Given the description of an element on the screen output the (x, y) to click on. 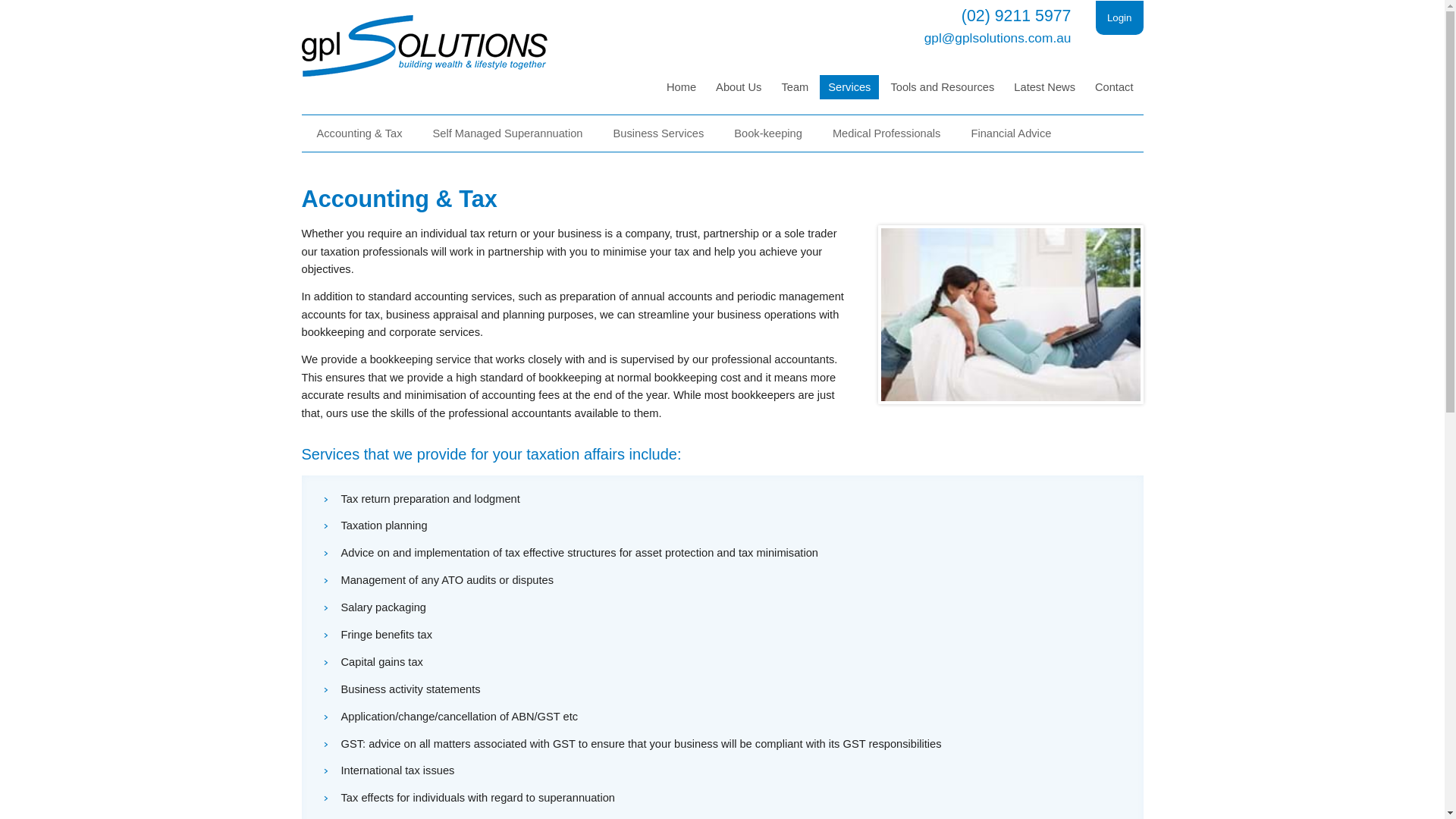
gpl@gplsolutions.com.au Element type: text (997, 37)
Book-keeping Element type: text (767, 133)
Medical Professionals Element type: text (886, 133)
Tools and Resources Element type: text (941, 87)
Self Managed Superannuation Element type: text (507, 133)
Home Element type: text (681, 87)
Business Services Element type: text (657, 133)
Services Element type: text (848, 87)
About Us Element type: text (738, 87)
Team Element type: text (794, 87)
Latest News Element type: text (1044, 87)
Login Element type: text (1119, 17)
Contact Element type: text (1114, 87)
Accounting & Tax Element type: text (359, 133)
Financial Advice Element type: text (1010, 133)
